Given the description of an element on the screen output the (x, y) to click on. 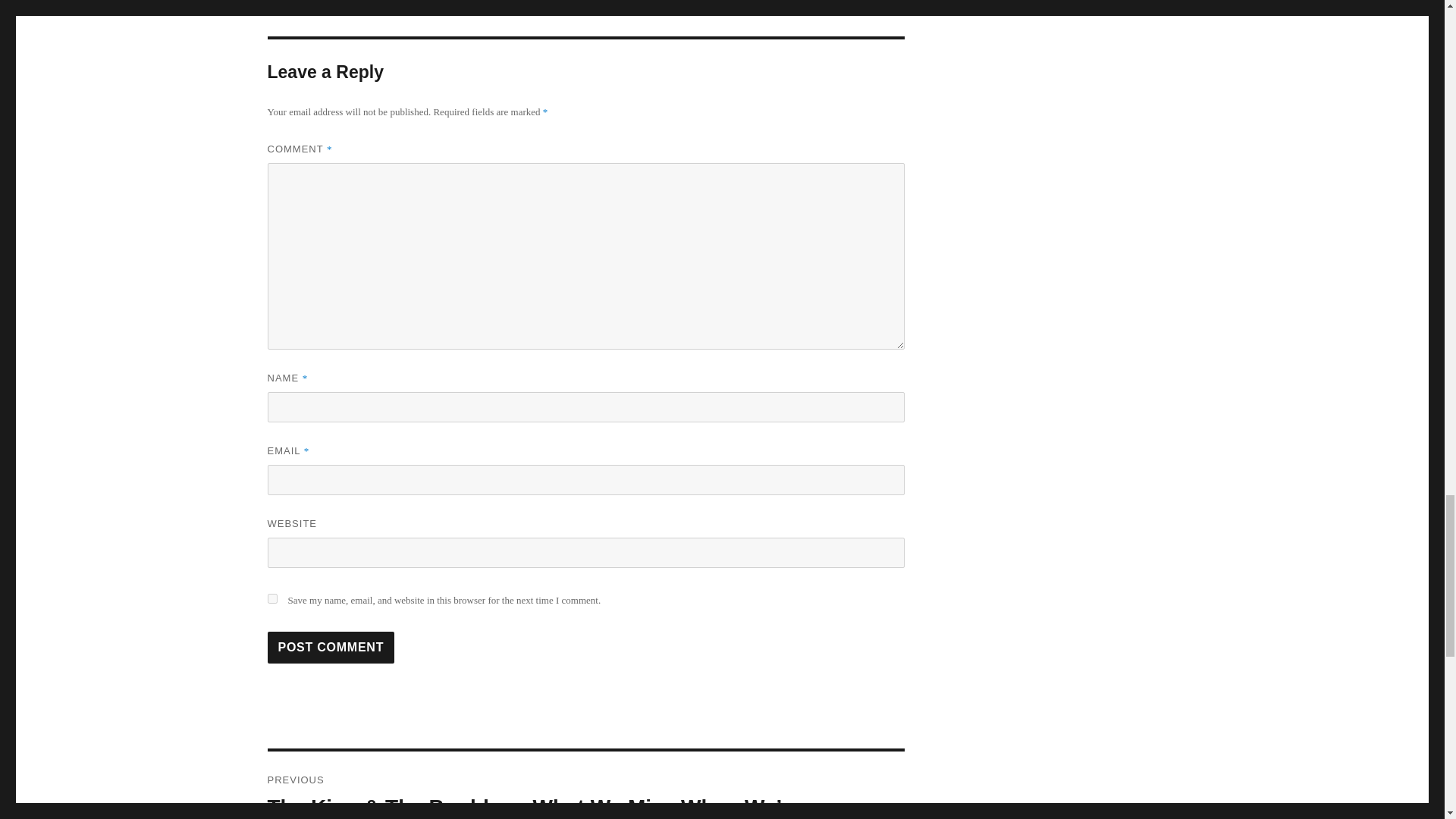
Post Comment (330, 647)
yes (271, 598)
Post Comment (330, 647)
